Given the description of an element on the screen output the (x, y) to click on. 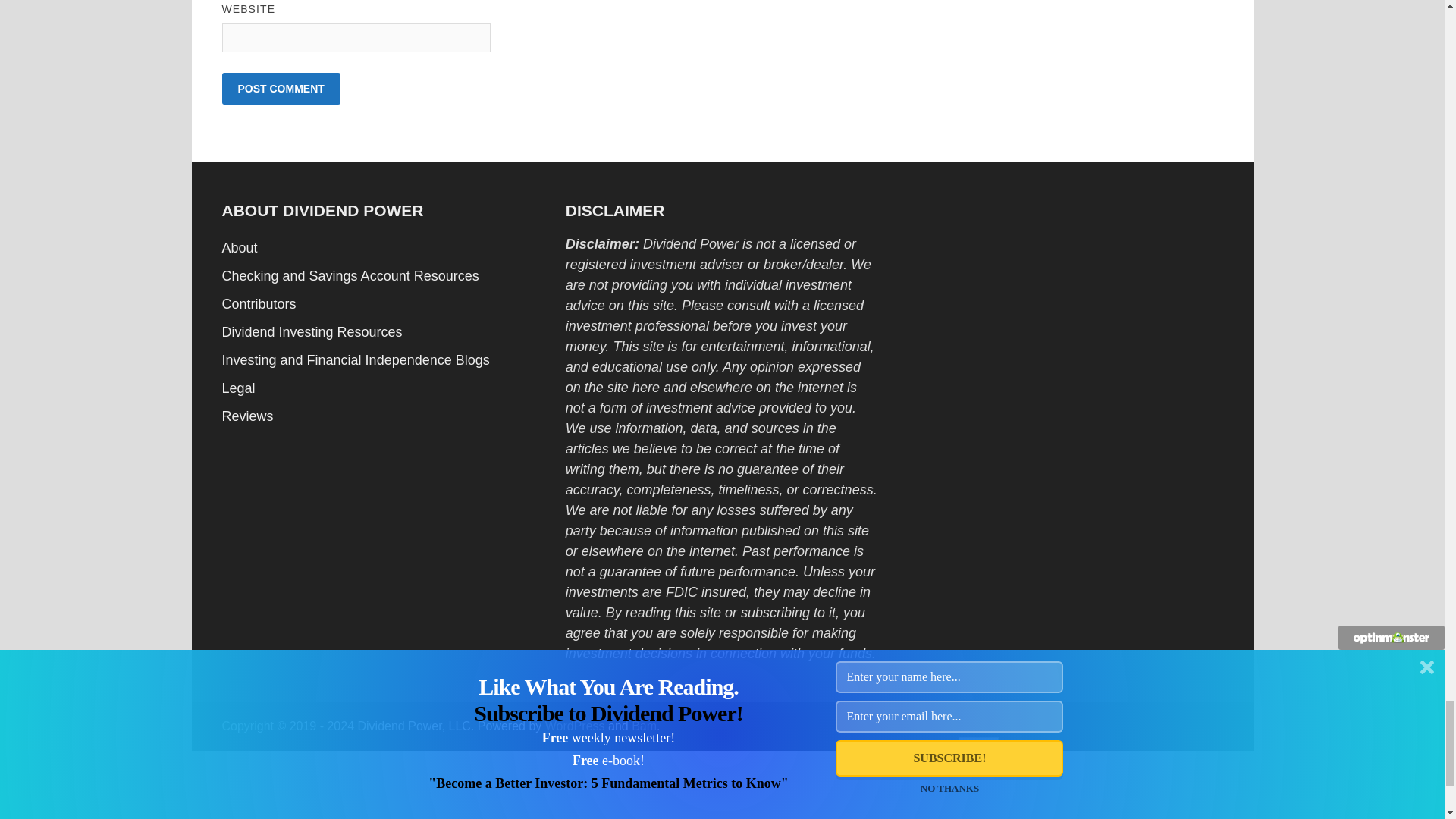
Post Comment (280, 88)
